Given the description of an element on the screen output the (x, y) to click on. 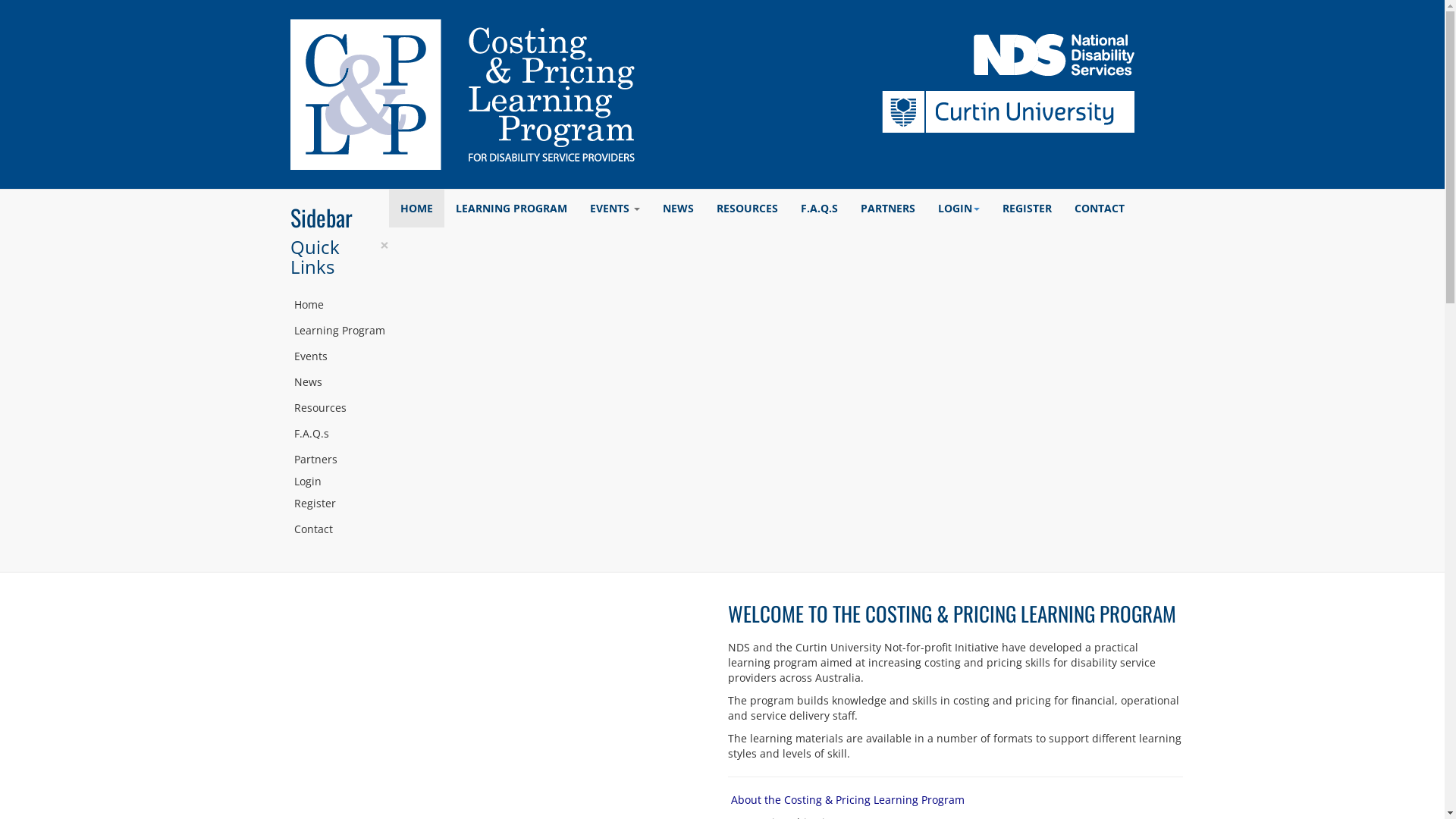
CONTACT Element type: text (1099, 208)
NEWS Element type: text (677, 208)
Partners Element type: text (338, 459)
HOME Element type: text (415, 208)
Resources Element type: text (338, 407)
About the Costing & Pricing Learning Program Element type: text (847, 799)
Costing & Pricing Learning Program Element type: hover (461, 93)
Events Element type: text (338, 356)
Home Element type: text (338, 304)
F.A.Q.s Element type: text (338, 433)
Register Element type: text (338, 503)
PARTNERS Element type: text (887, 208)
LEARNING PROGRAM Element type: text (511, 208)
RESOURCES Element type: text (747, 208)
F.A.Q.S Element type: text (818, 208)
EVENTS Element type: text (613, 208)
REGISTER Element type: text (1026, 208)
News Element type: text (338, 382)
Contact Element type: text (338, 529)
Learning Program Element type: text (338, 330)
